Given the description of an element on the screen output the (x, y) to click on. 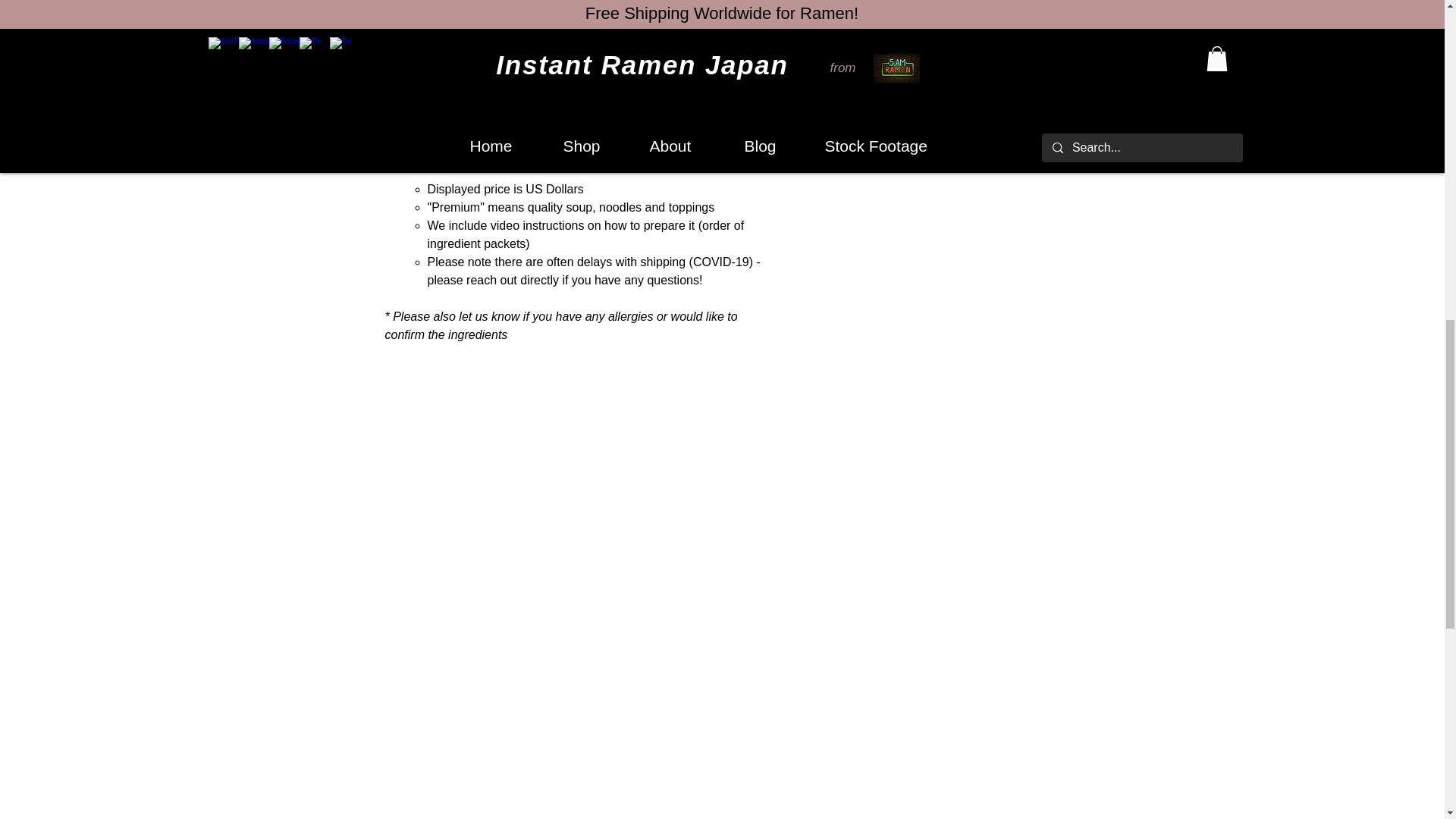
"Ramen Ranks" (622, 133)
Terms and Conditions (924, 17)
